Given the description of an element on the screen output the (x, y) to click on. 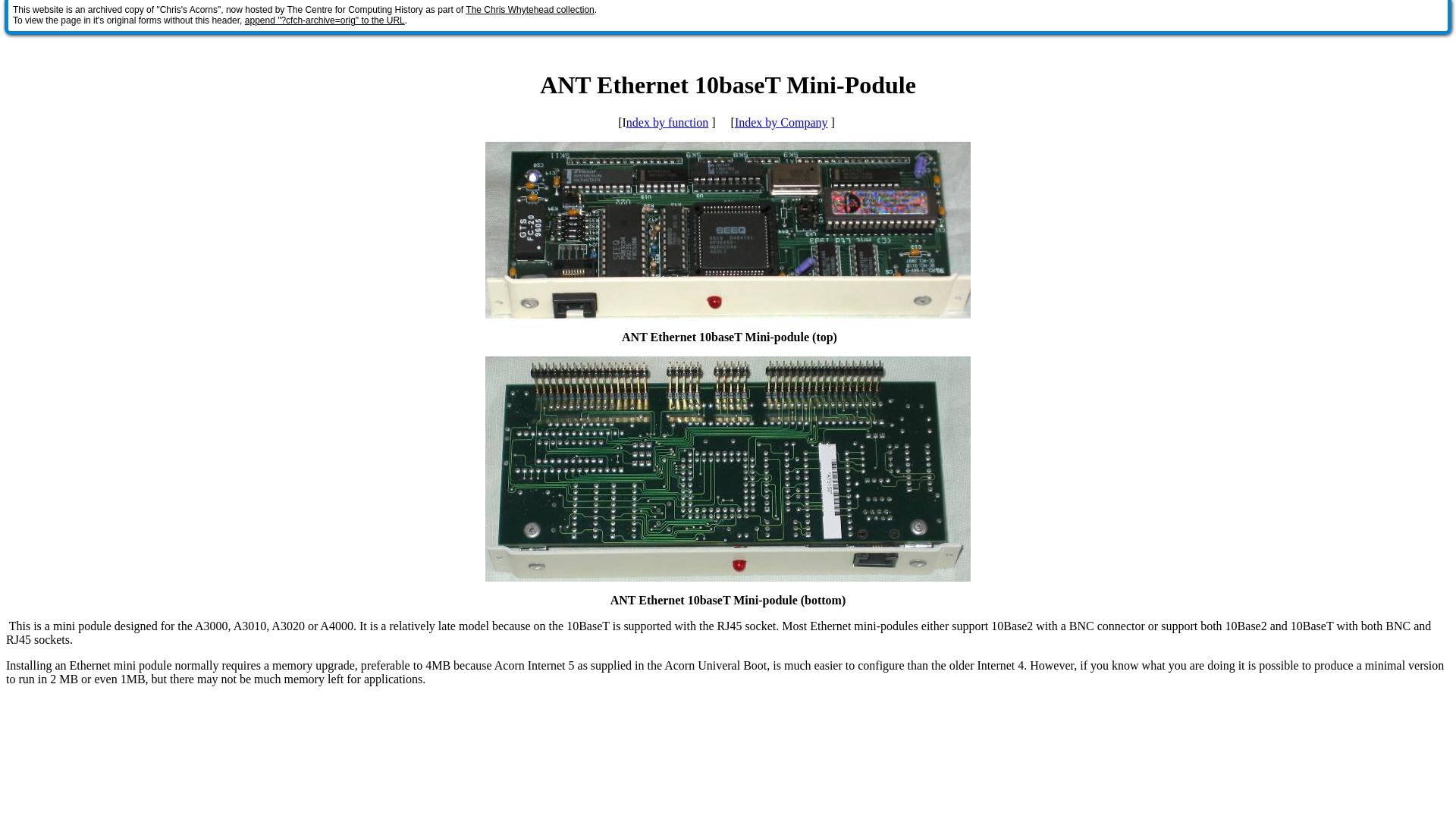
ndex by function (666, 122)
The Chris Whytehead collection (529, 9)
Index by Company (781, 122)
